Given the description of an element on the screen output the (x, y) to click on. 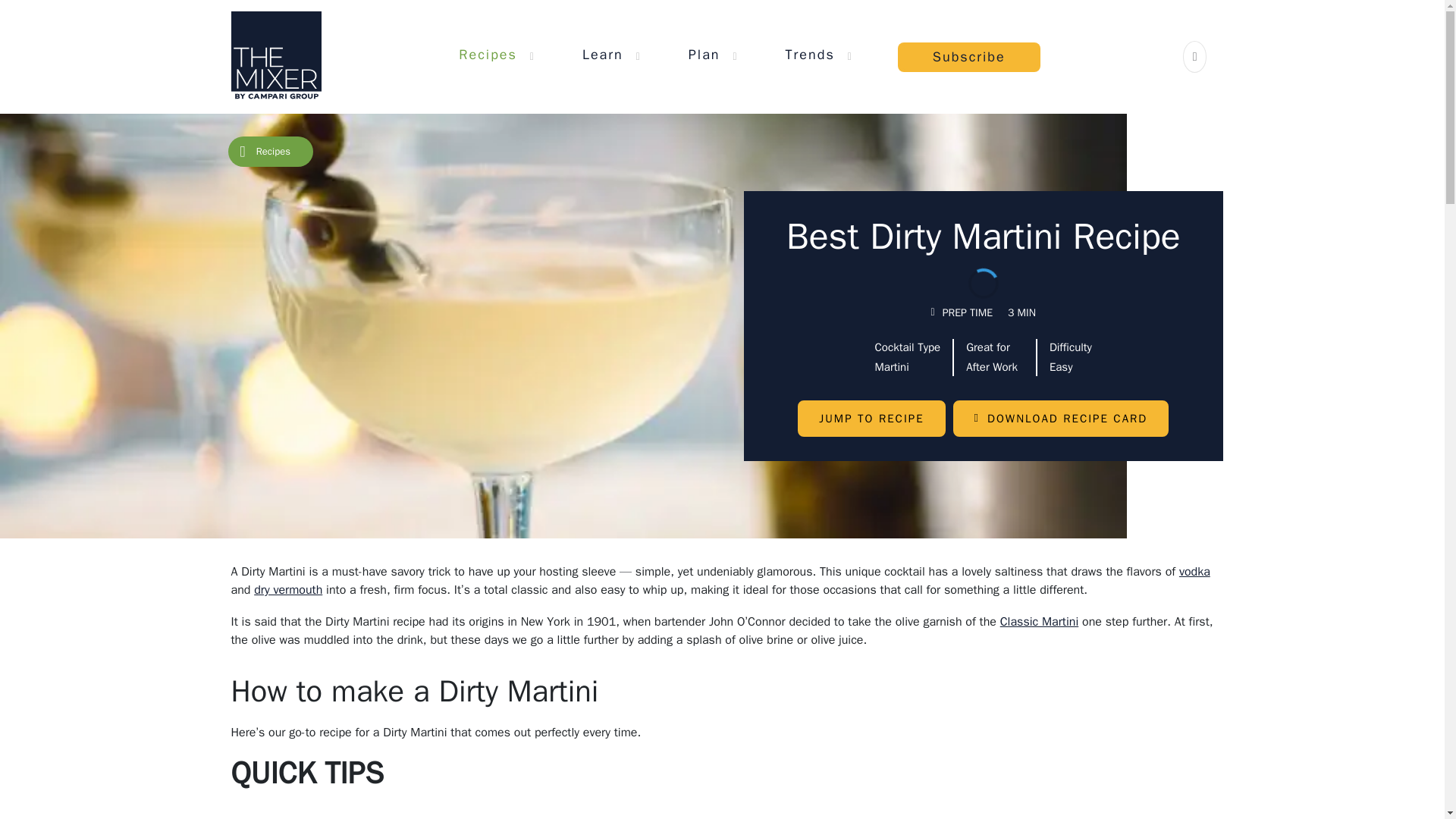
The Mixer (275, 56)
Learn (602, 53)
Search Opener (1195, 56)
Recipes (487, 53)
Trends (809, 53)
The Mixer (275, 56)
Plan (704, 53)
